Given the description of an element on the screen output the (x, y) to click on. 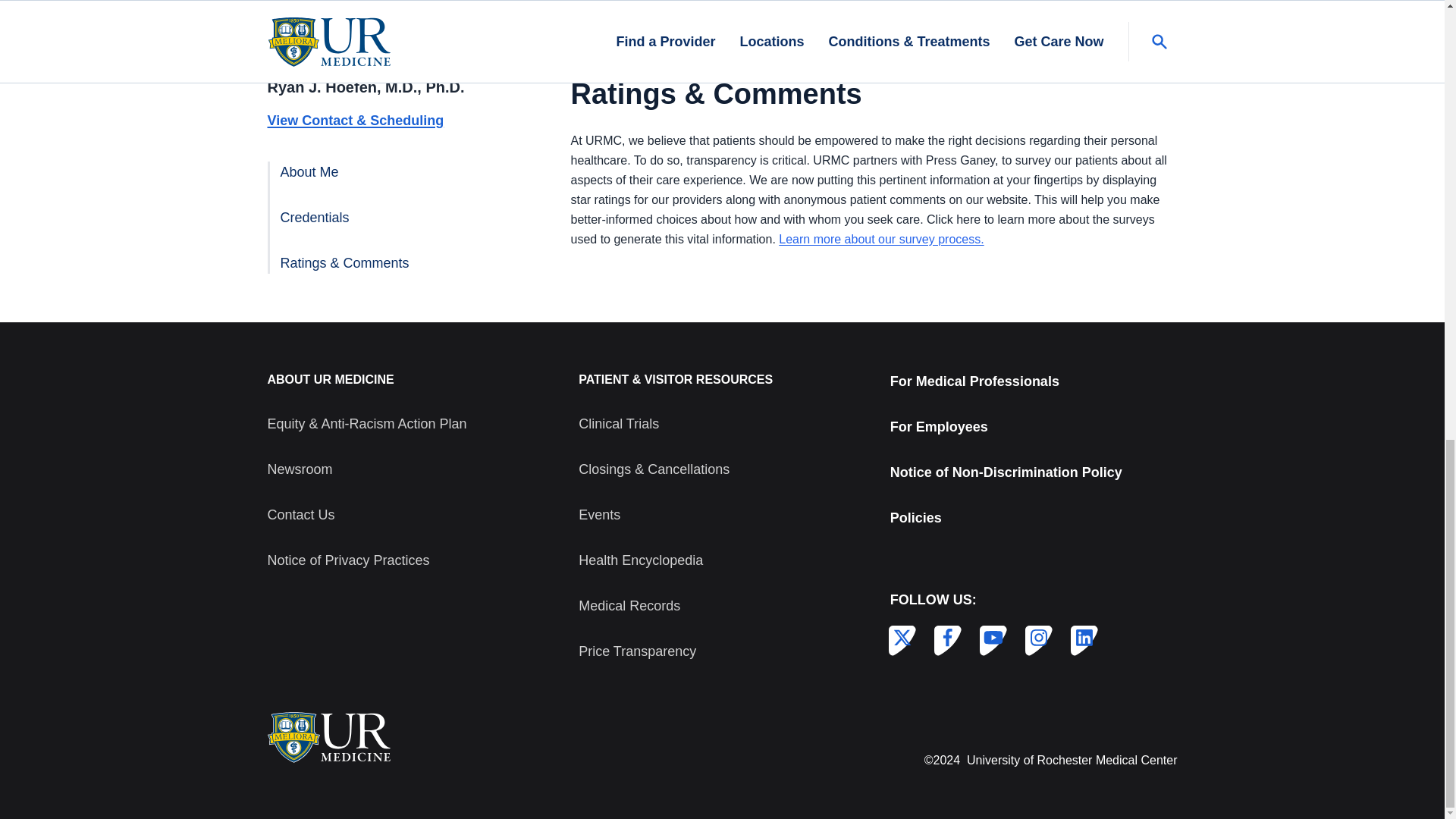
UR Medicine on Facebook (944, 637)
UR Medicine on Instagram (1035, 637)
UR Medicine on YouTube (990, 637)
UR Medicine Logo (328, 737)
UR Medicine on X (898, 637)
UR Medicine on LinkedIn (1080, 637)
